Given the description of an element on the screen output the (x, y) to click on. 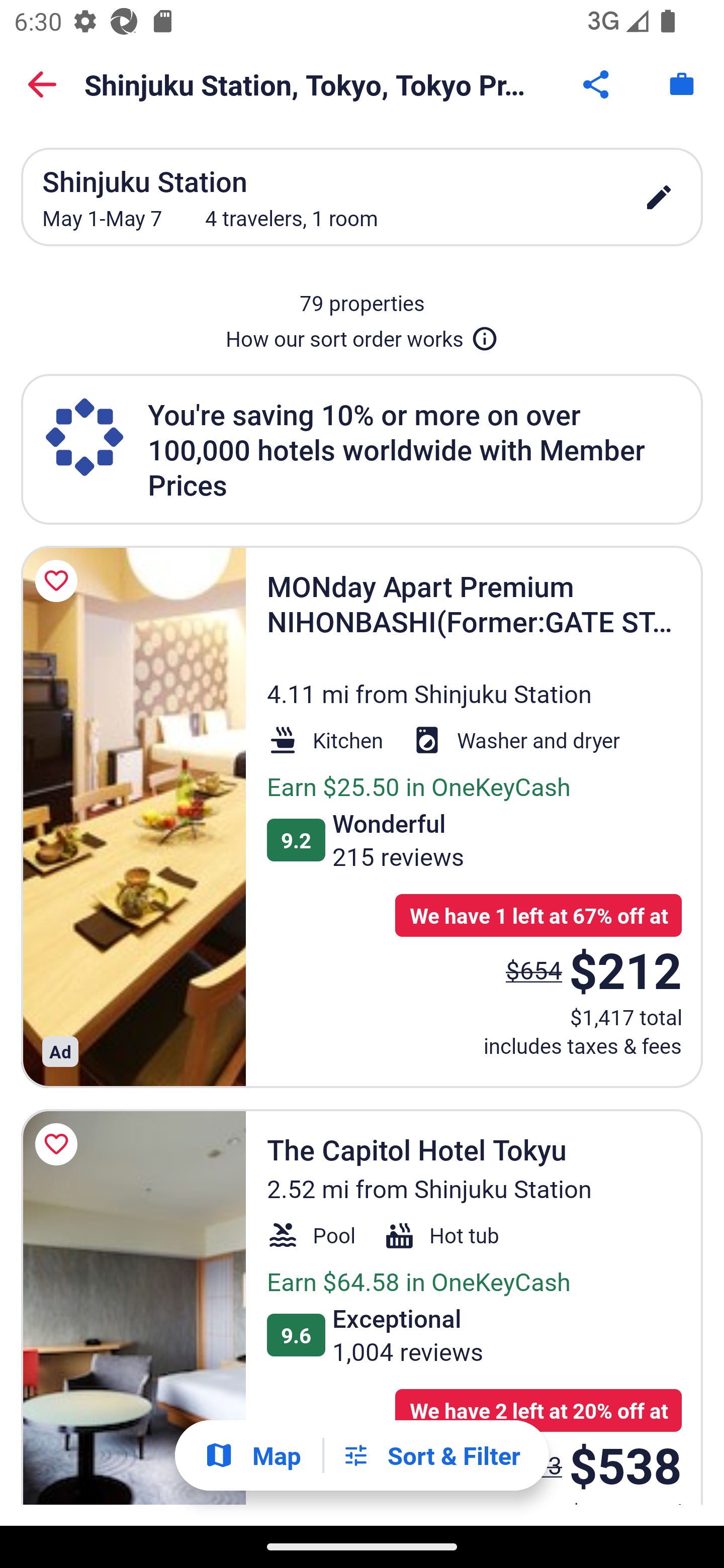
Back (42, 84)
Share Button (597, 84)
Trips. Button (681, 84)
How our sort order works (361, 334)
$654 The price was $654 (533, 970)
Save The Capitol Hotel Tokyu to a trip (59, 1144)
The Capitol Hotel Tokyu (133, 1306)
Filters Sort & Filter Filters Button (430, 1455)
Show map Map Show map Button (252, 1455)
